Given the description of an element on the screen output the (x, y) to click on. 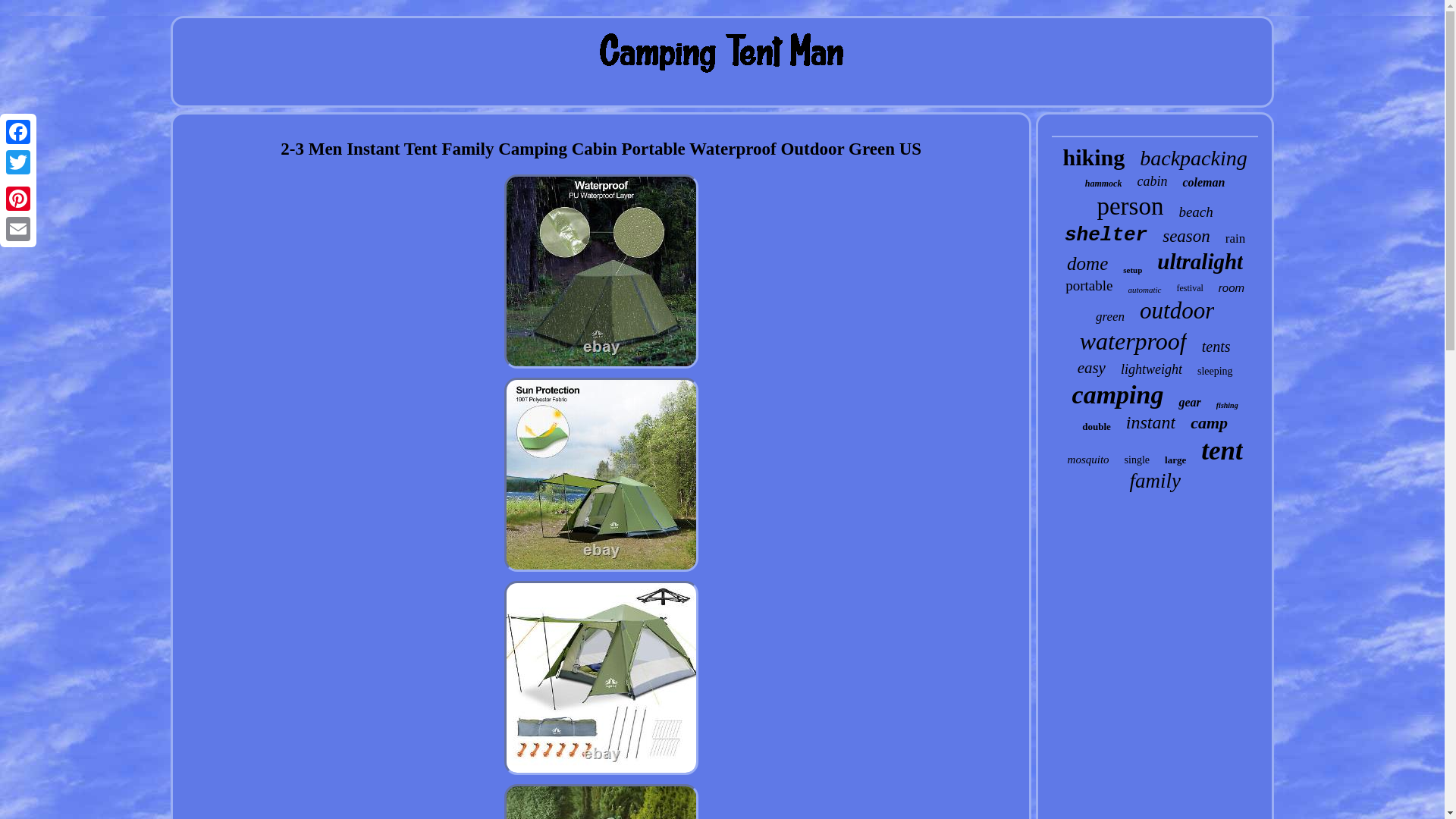
Email (17, 228)
room (1231, 287)
backpacking (1193, 158)
gear (1188, 402)
Twitter (17, 162)
shelter (1105, 234)
hiking (1093, 157)
person (1129, 206)
beach (1194, 211)
